Given the description of an element on the screen output the (x, y) to click on. 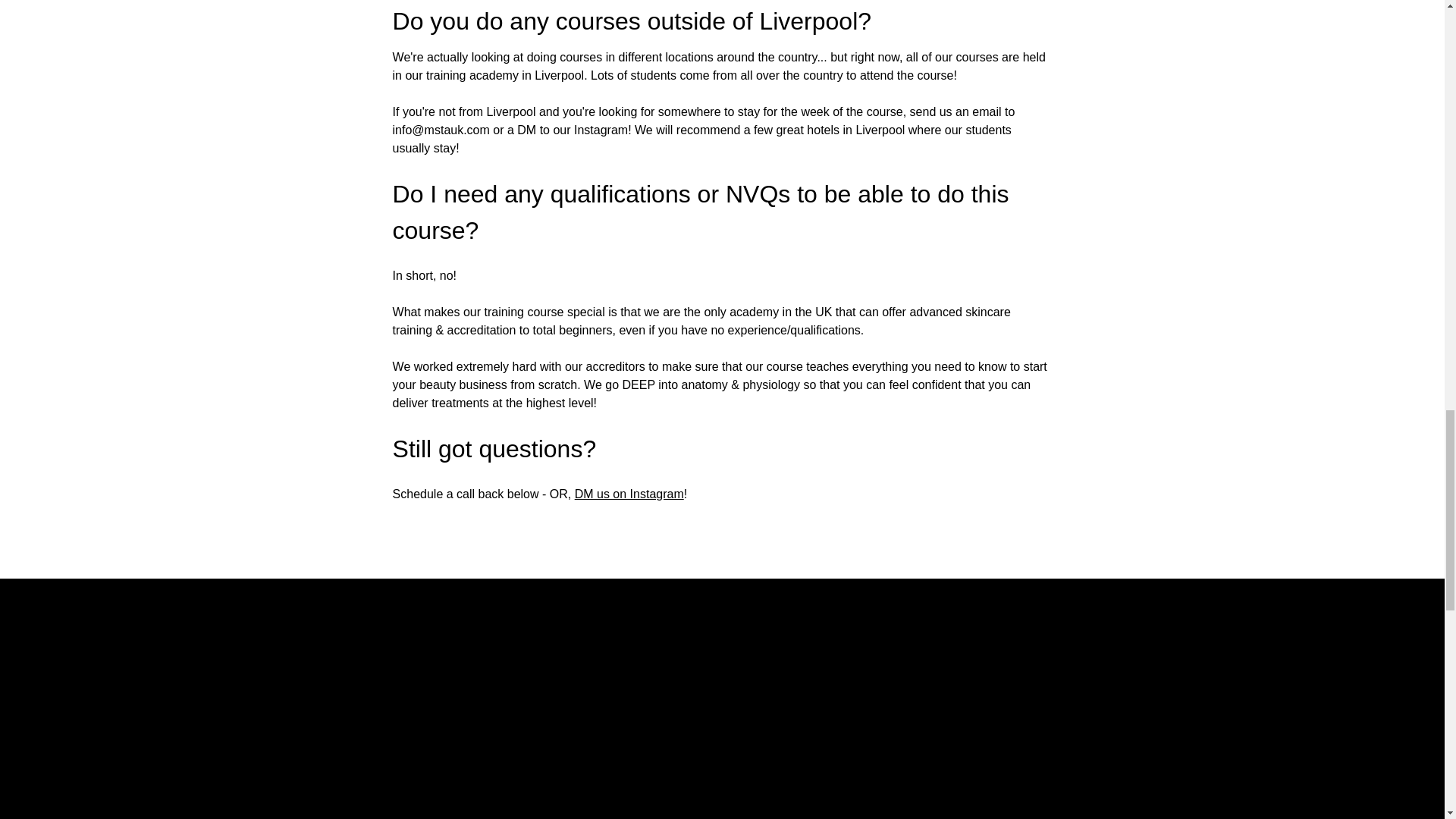
DM us on Instagram (629, 493)
